Given the description of an element on the screen output the (x, y) to click on. 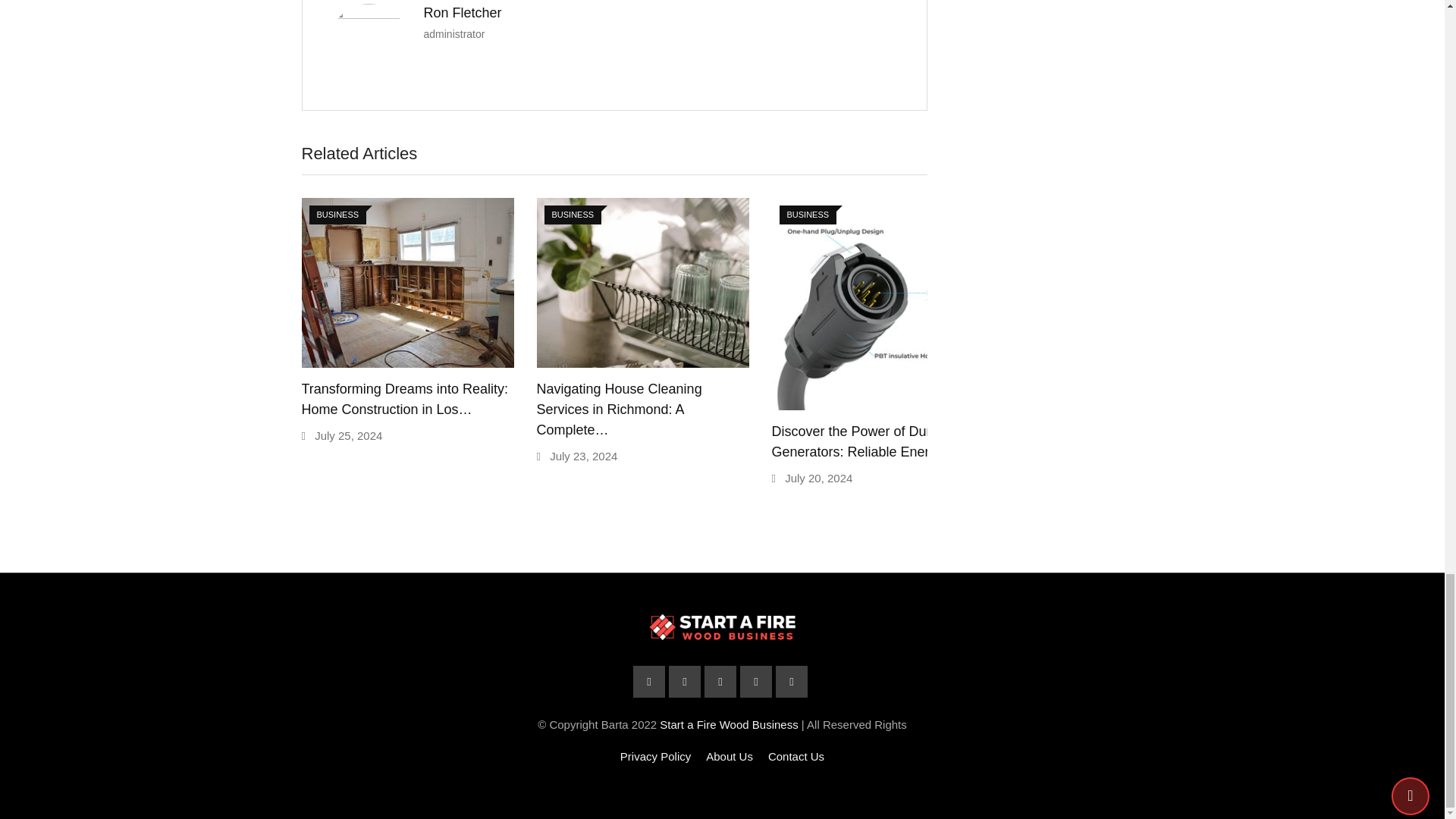
Posts by Ron Fletcher (461, 12)
